Given the description of an element on the screen output the (x, y) to click on. 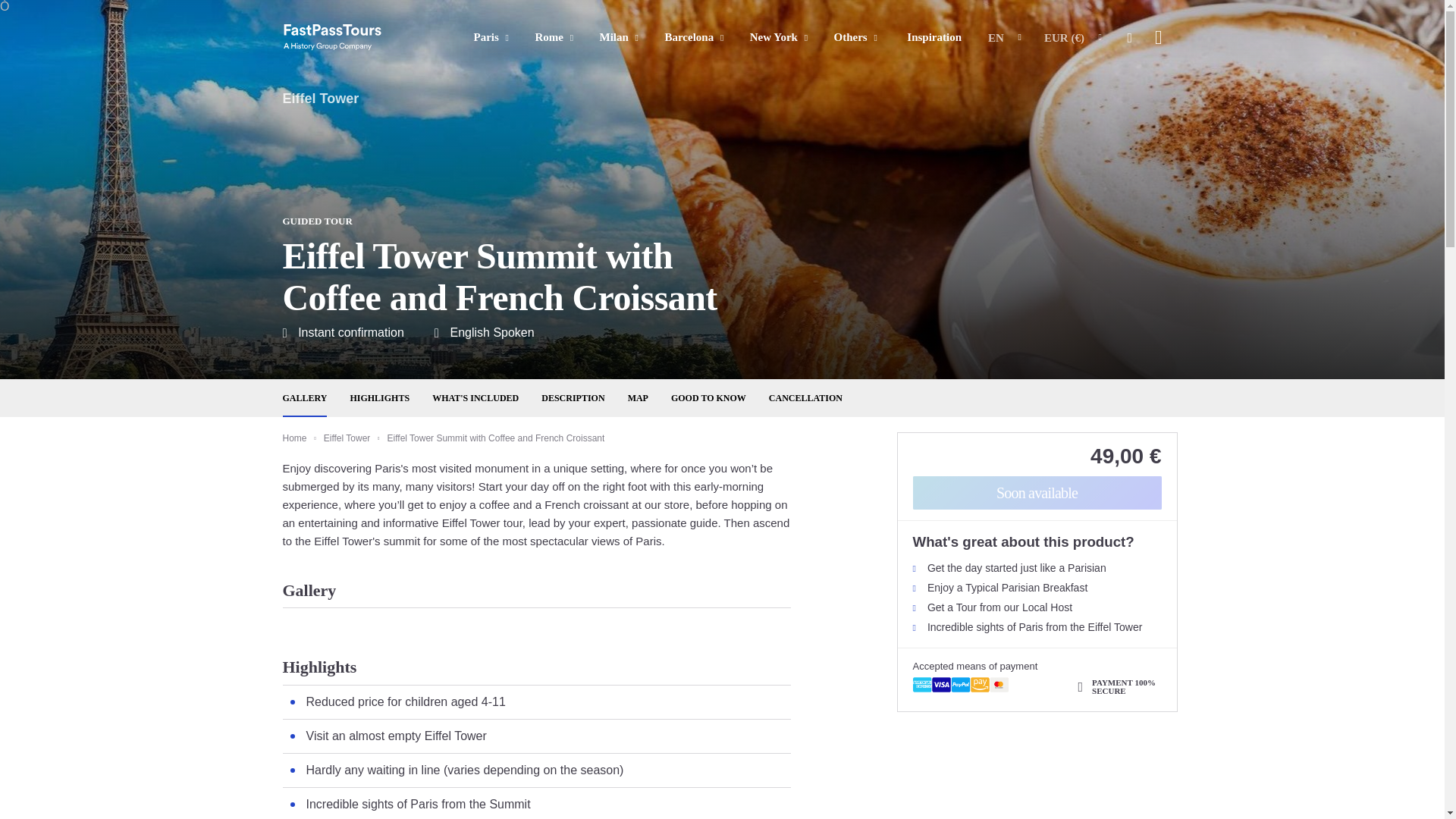
Inspiration (933, 37)
